Given the description of an element on the screen output the (x, y) to click on. 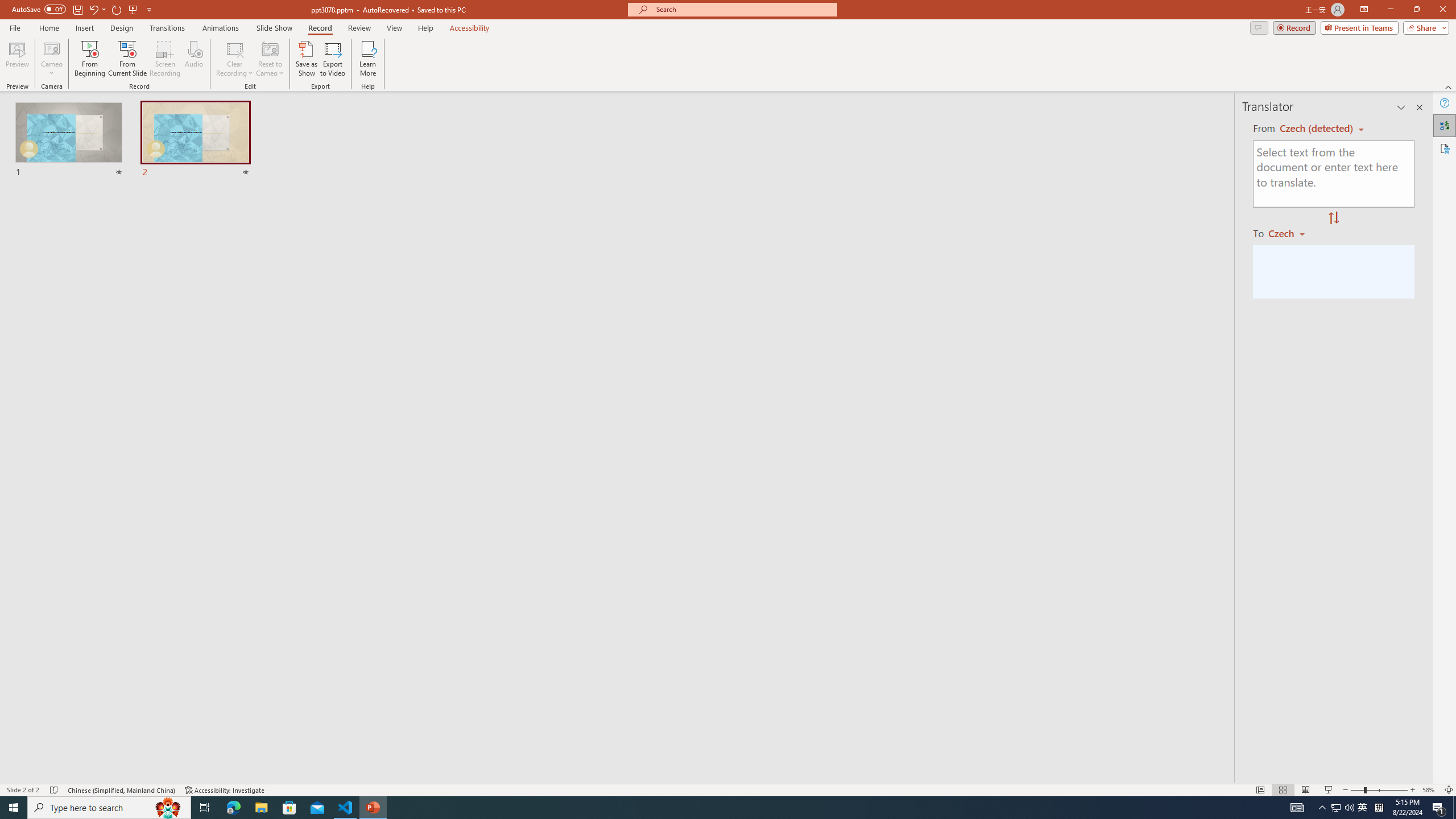
Learn More (368, 58)
Clear Recording (234, 58)
Reset to Cameo (269, 58)
Swap "from" and "to" languages. (1333, 218)
